Given the description of an element on the screen output the (x, y) to click on. 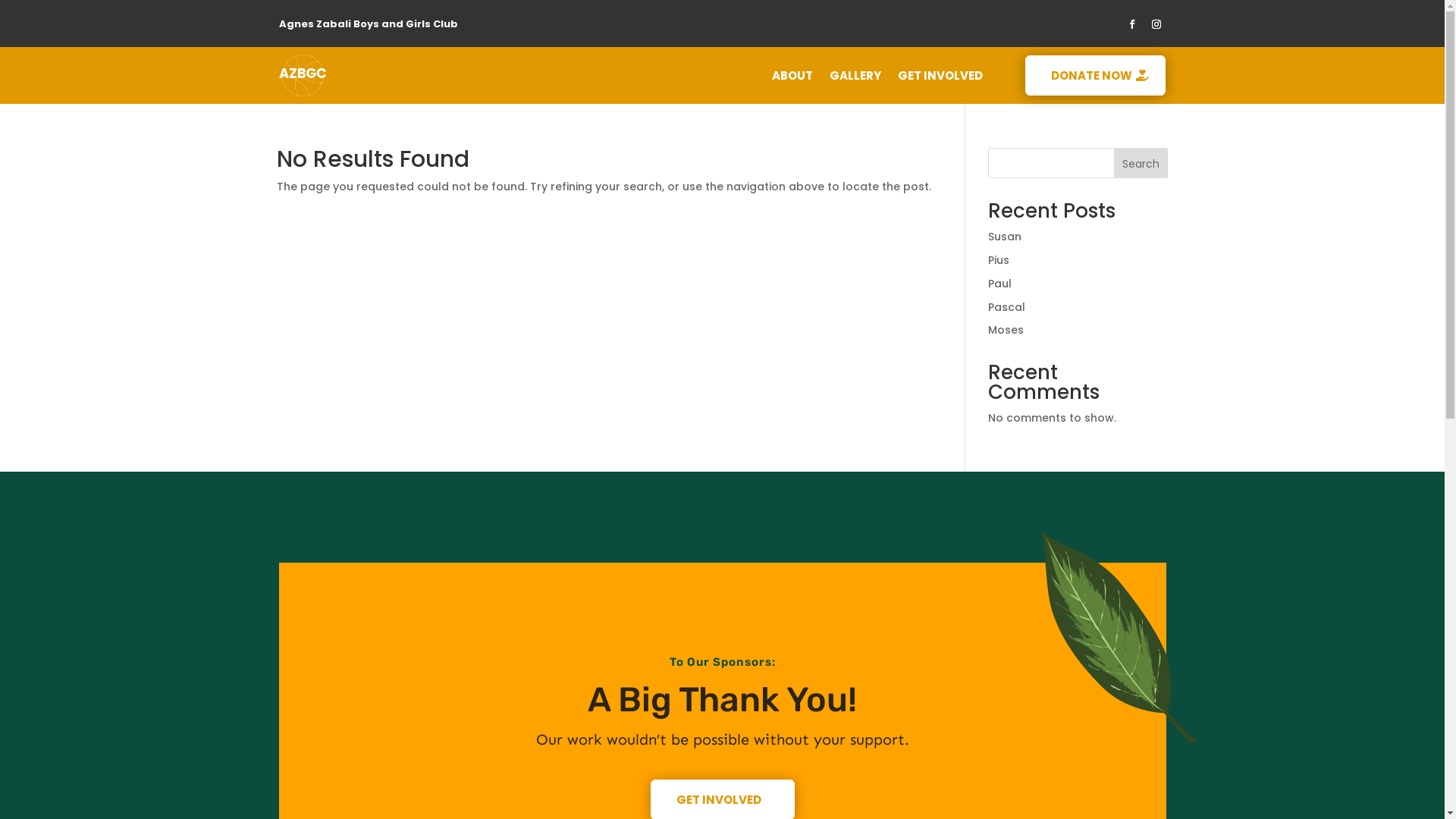
Susan Element type: text (1004, 236)
Follow on Instagram Element type: hover (1156, 24)
DONATE NOW Element type: text (1095, 75)
Pius Element type: text (998, 259)
Follow on Facebook Element type: hover (1132, 24)
Search Element type: text (1140, 162)
GALLERY Element type: text (855, 78)
Pascal Element type: text (1006, 306)
Paul Element type: text (999, 283)
GET INVOLVED Element type: text (939, 78)
Logo Text Through Short Element type: hover (302, 75)
Moses Element type: text (1005, 329)
AZBGC Leaf Element type: hover (1117, 637)
ABOUT Element type: text (791, 78)
